Given the description of an element on the screen output the (x, y) to click on. 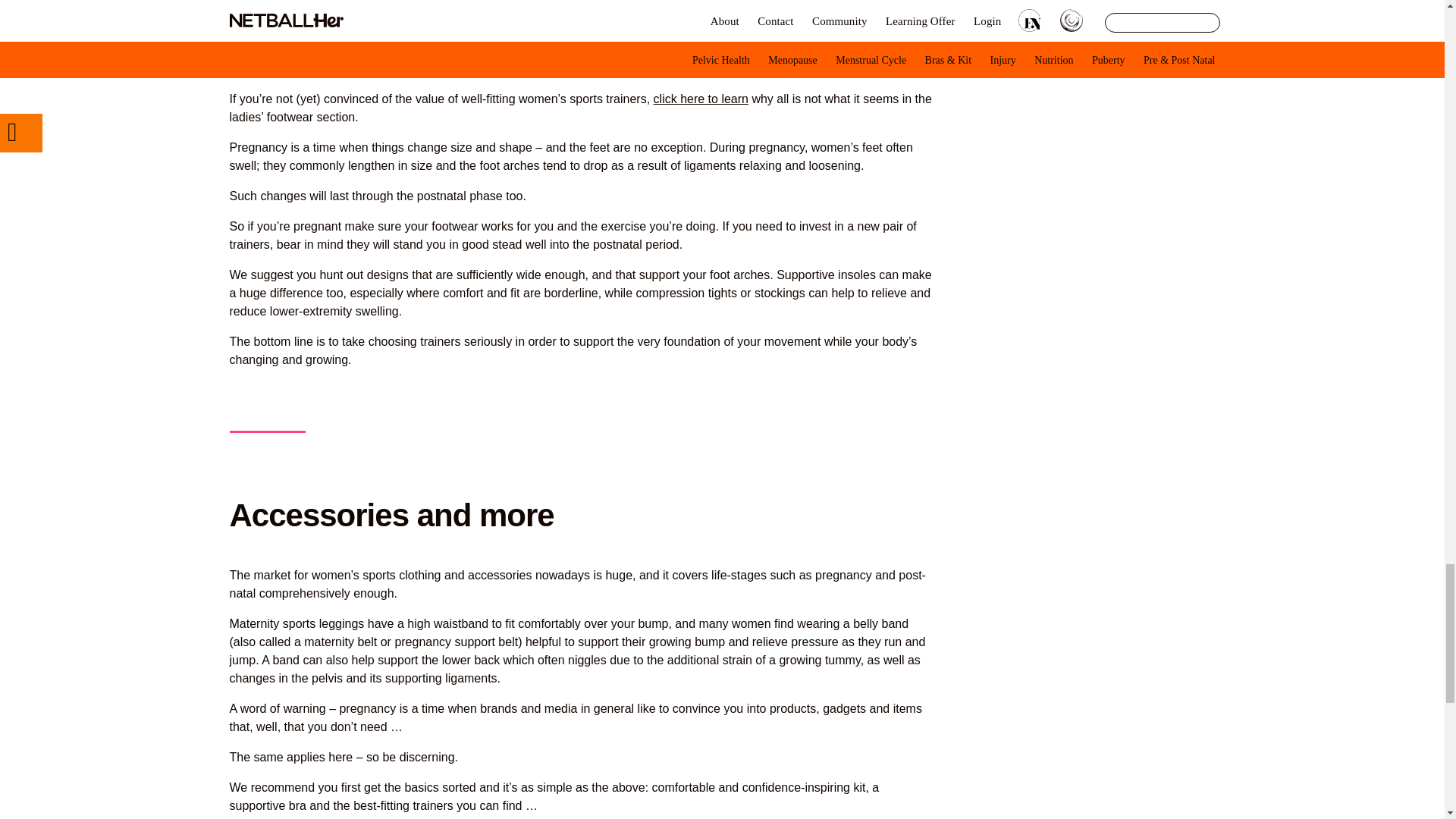
click here to learn (700, 98)
